Given the description of an element on the screen output the (x, y) to click on. 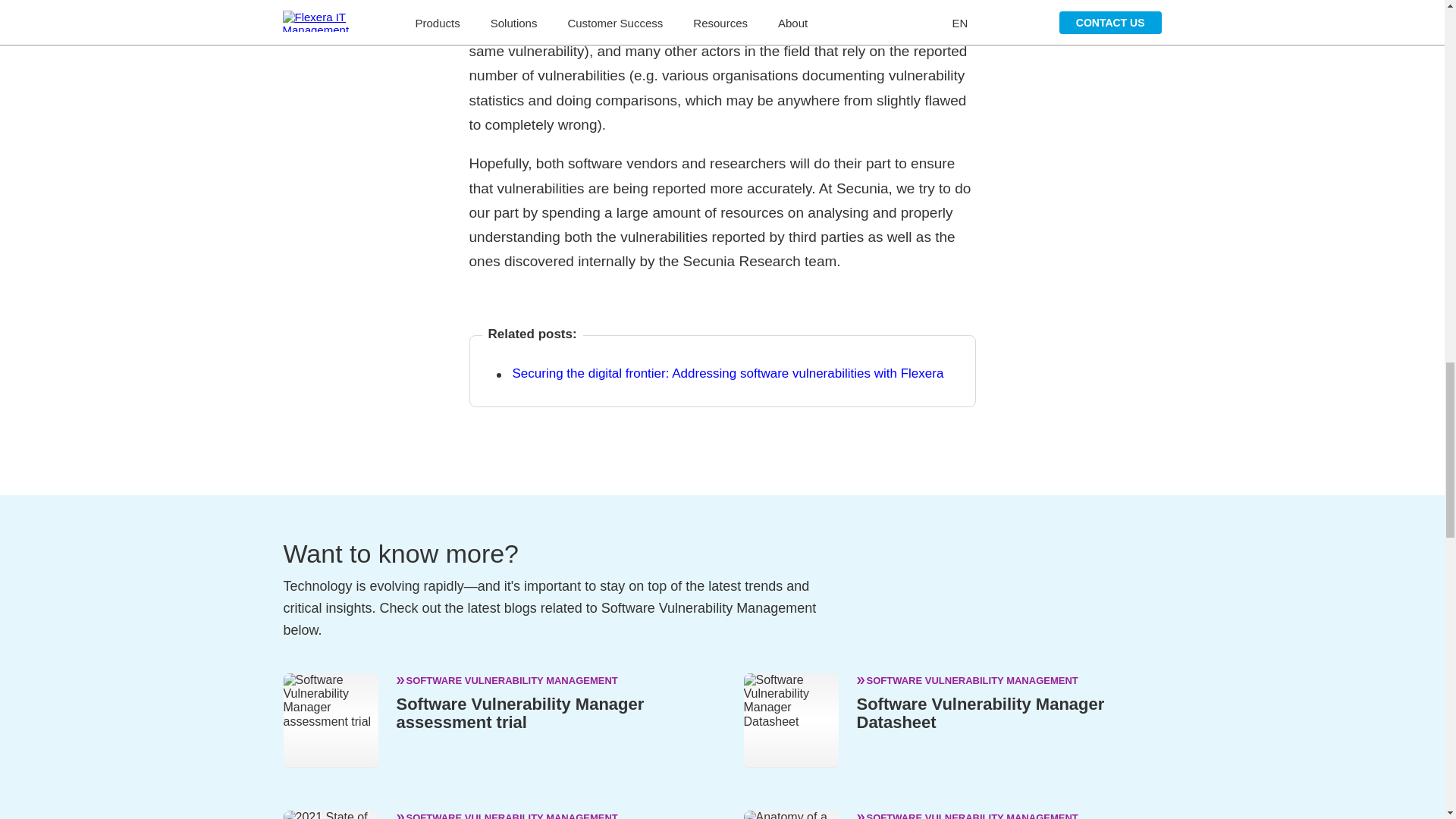
Software Vulnerability Manager Datasheet (981, 713)
Software Vulnerability Manager assessment trial (519, 713)
